Given the description of an element on the screen output the (x, y) to click on. 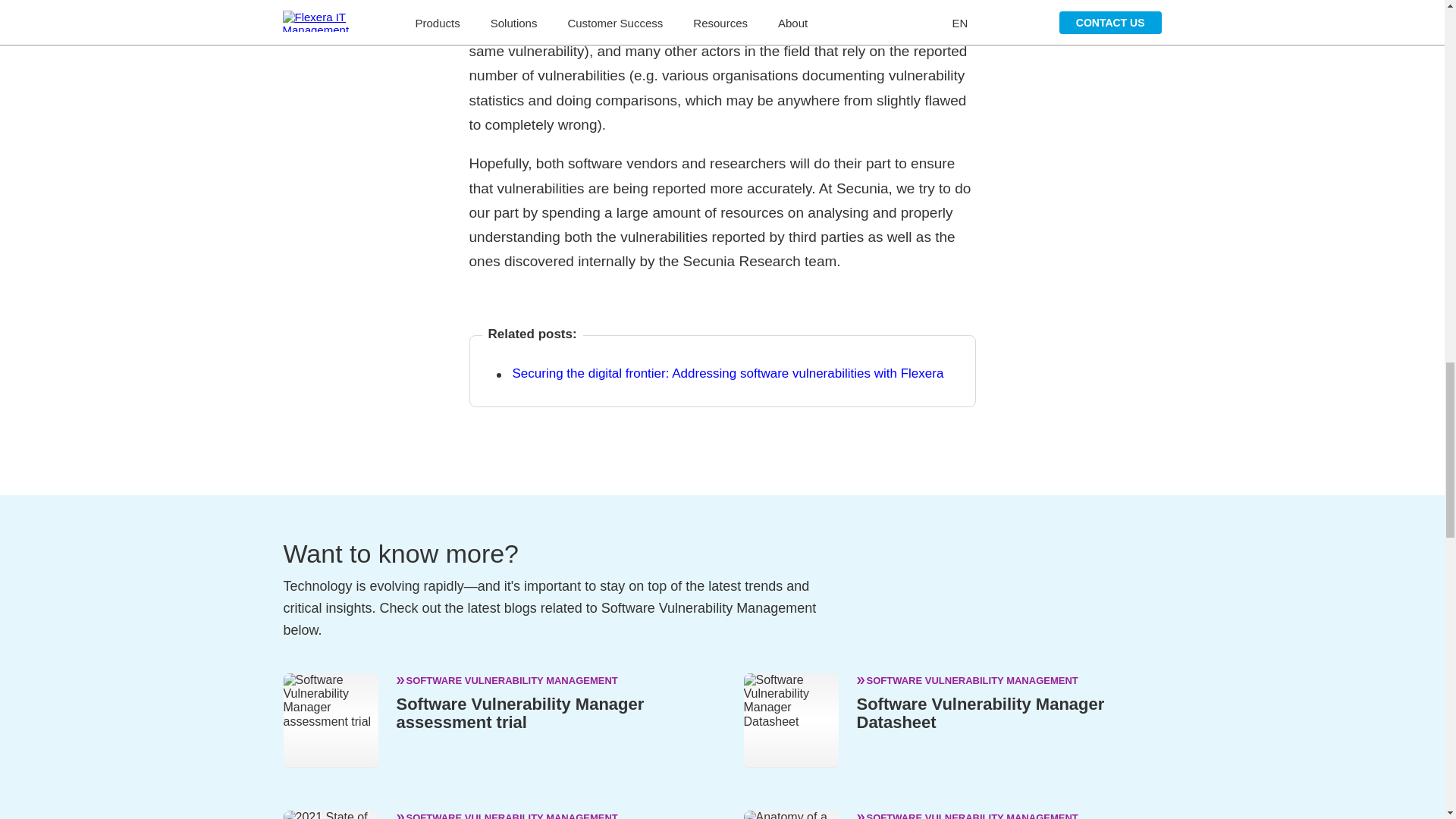
Software Vulnerability Manager Datasheet (981, 713)
Software Vulnerability Manager assessment trial (519, 713)
